Given the description of an element on the screen output the (x, y) to click on. 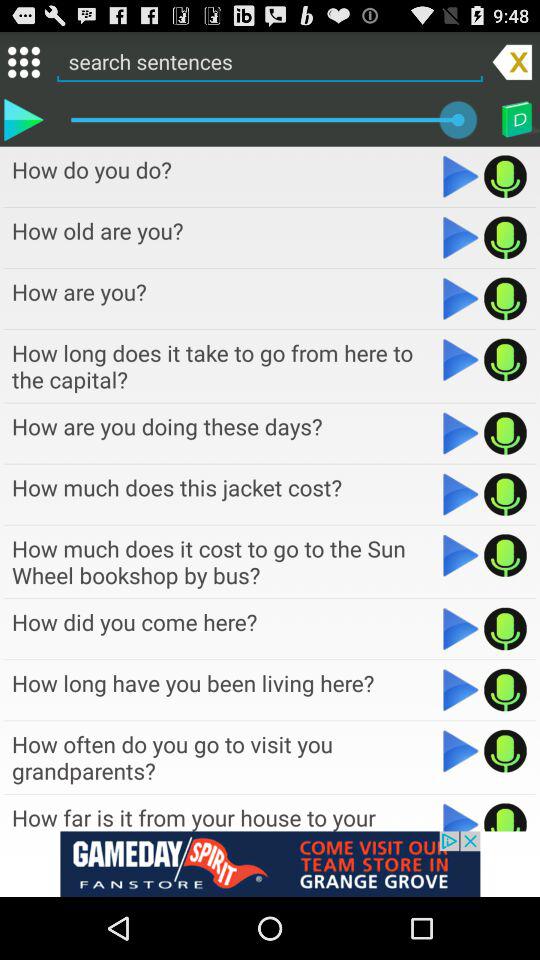
select the second icon which is right to the text how old are you (505, 237)
select the second option in the list (225, 230)
select the top of the 4th audio column (225, 365)
select the mic icon on the eight row (505, 628)
